Given the description of an element on the screen output the (x, y) to click on. 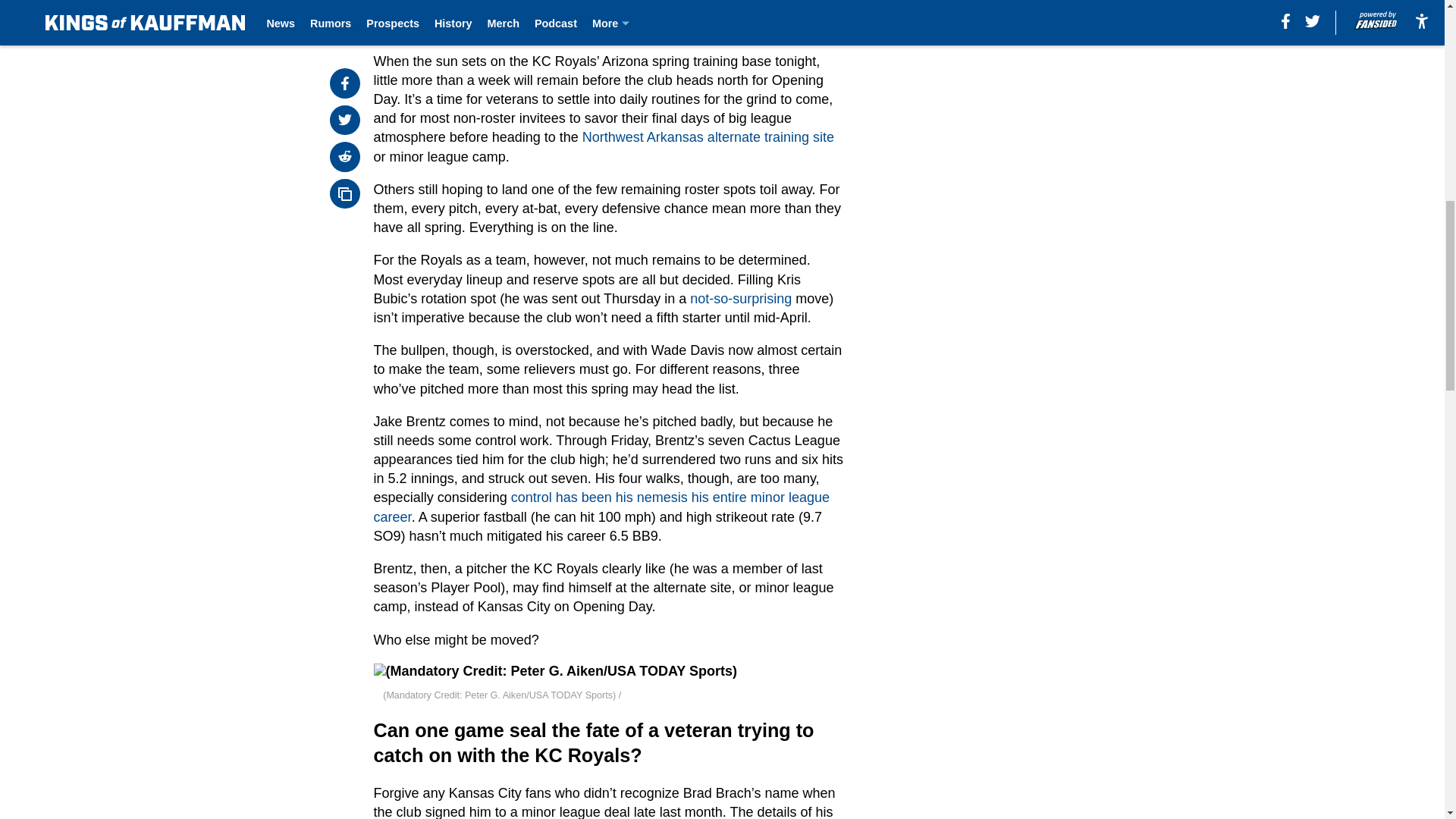
not-so-surprising (741, 298)
control has been his nemesis his entire minor league career (601, 506)
Northwest Arkansas alternate training site (708, 136)
